Given the description of an element on the screen output the (x, y) to click on. 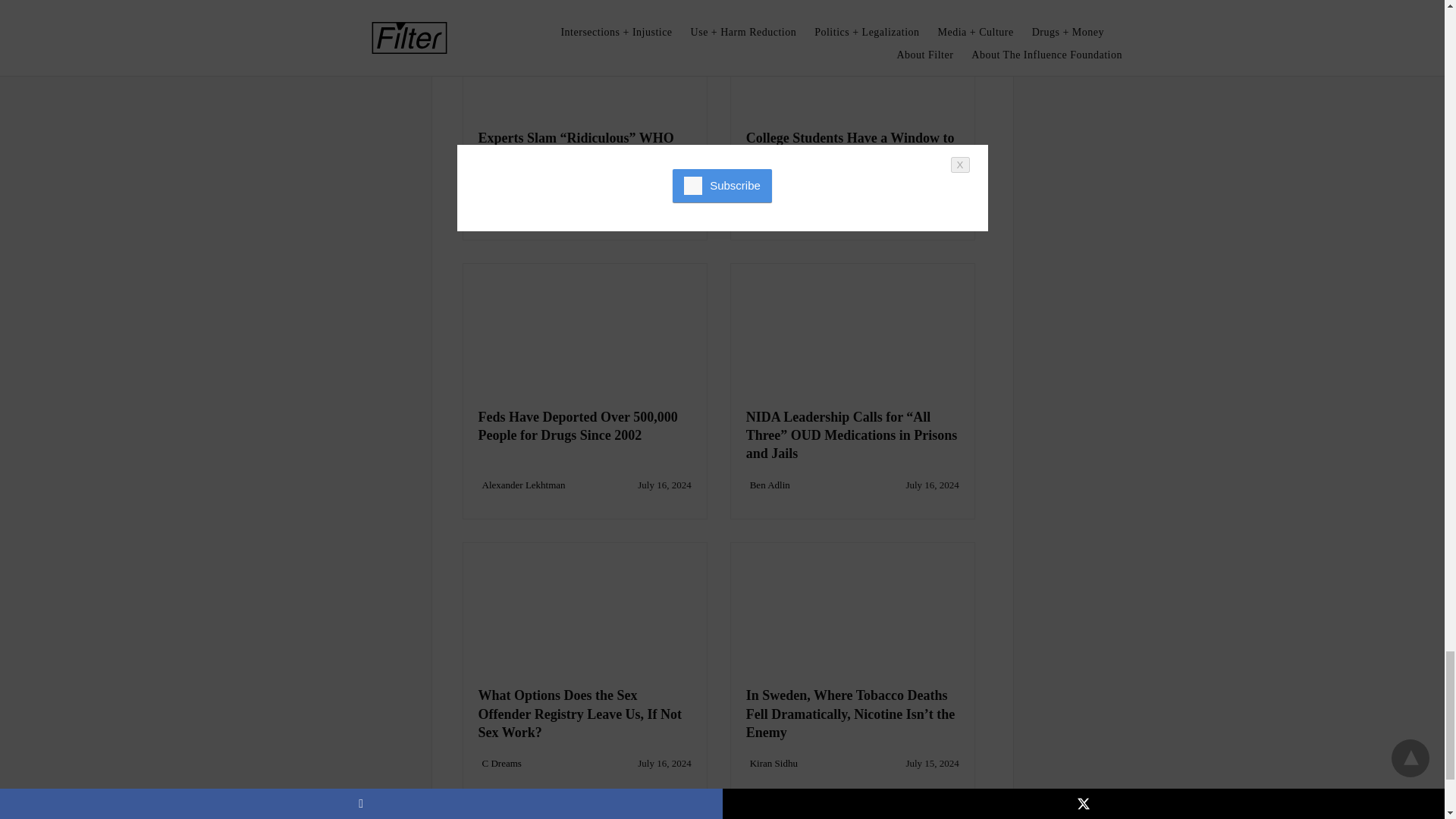
Anna Meyer (774, 205)
Kiran Sidhu (505, 205)
